Given the description of an element on the screen output the (x, y) to click on. 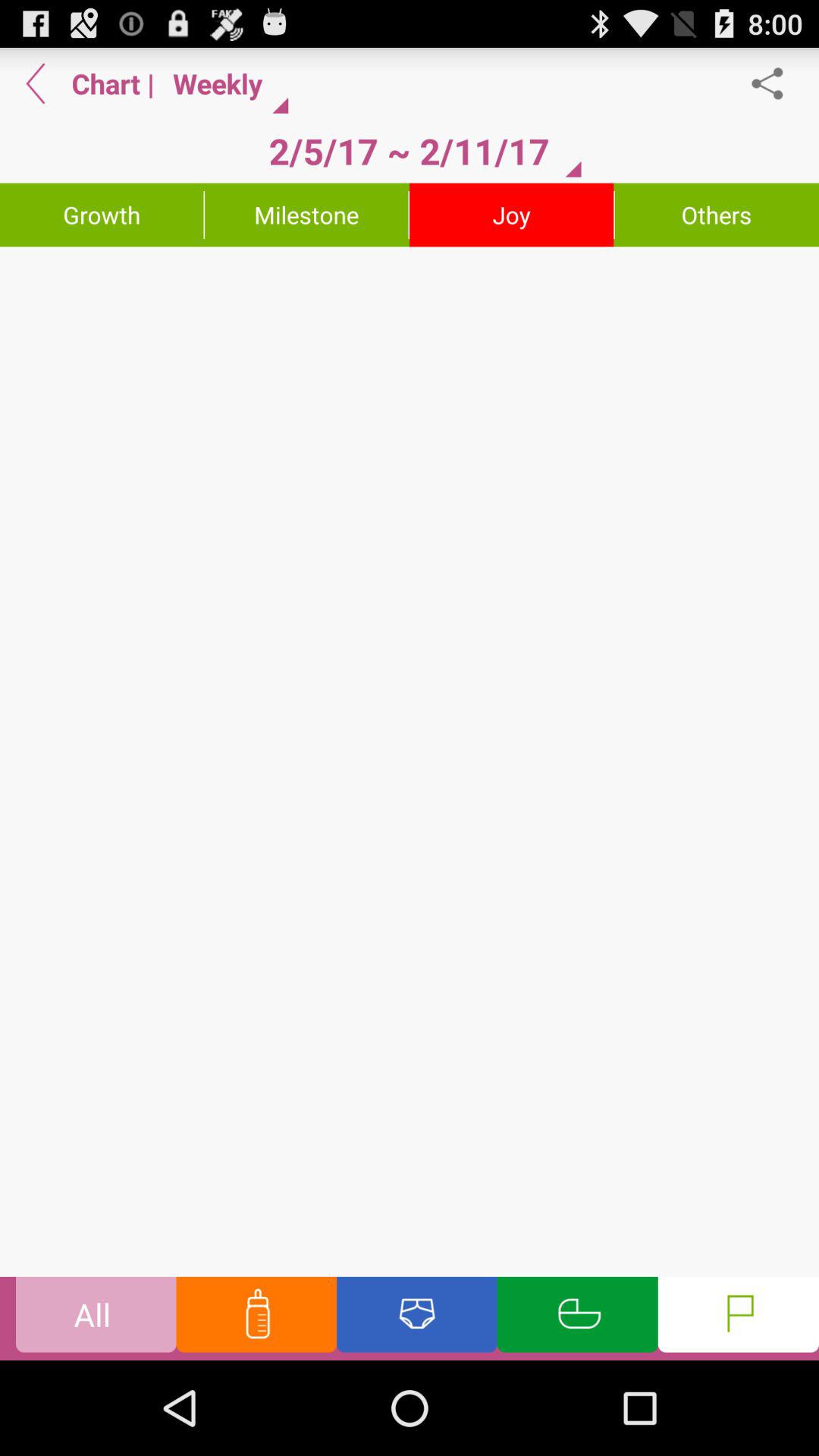
swipe to milestone icon (306, 214)
